Given the description of an element on the screen output the (x, y) to click on. 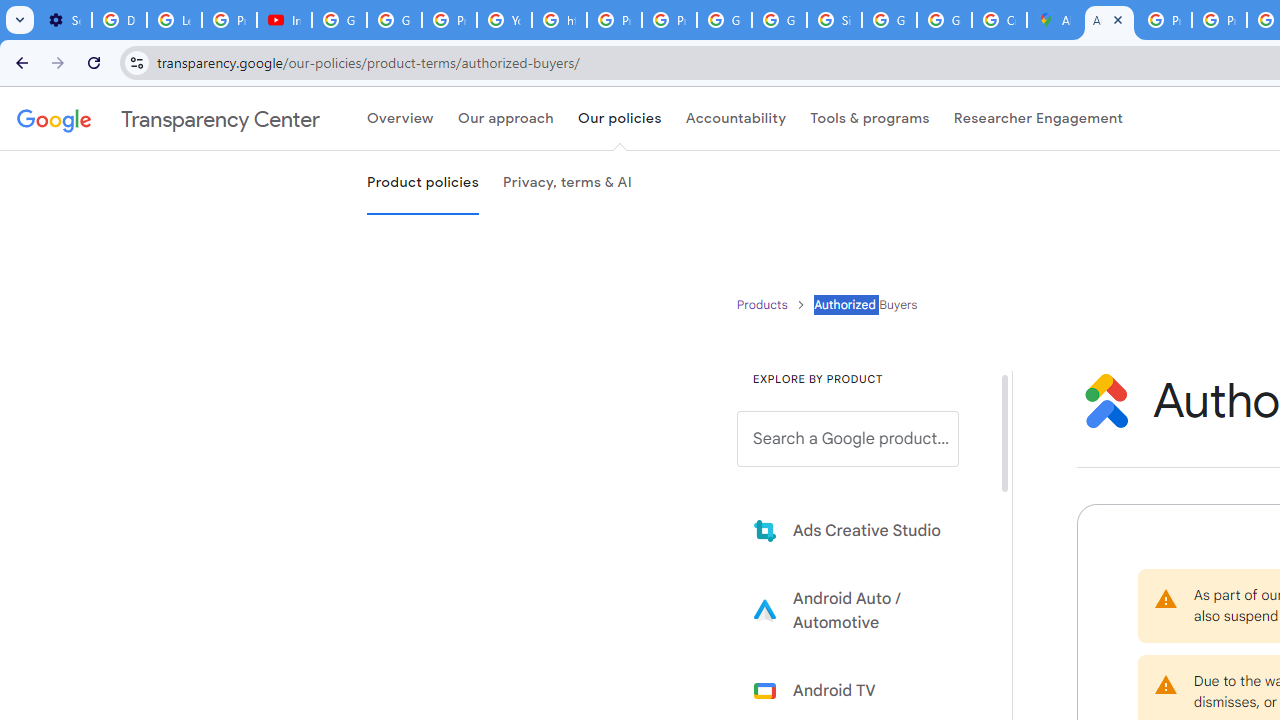
Introduction | Google Privacy Policy - YouTube (284, 20)
Learn more about Android Auto (862, 610)
Transparency Center (167, 119)
Accountability (735, 119)
Privacy Help Center - Policies Help (1163, 20)
Google Account Help (394, 20)
Researcher Engagement (1038, 119)
Overview (399, 119)
Privacy Help Center - Policies Help (1218, 20)
